Given the description of an element on the screen output the (x, y) to click on. 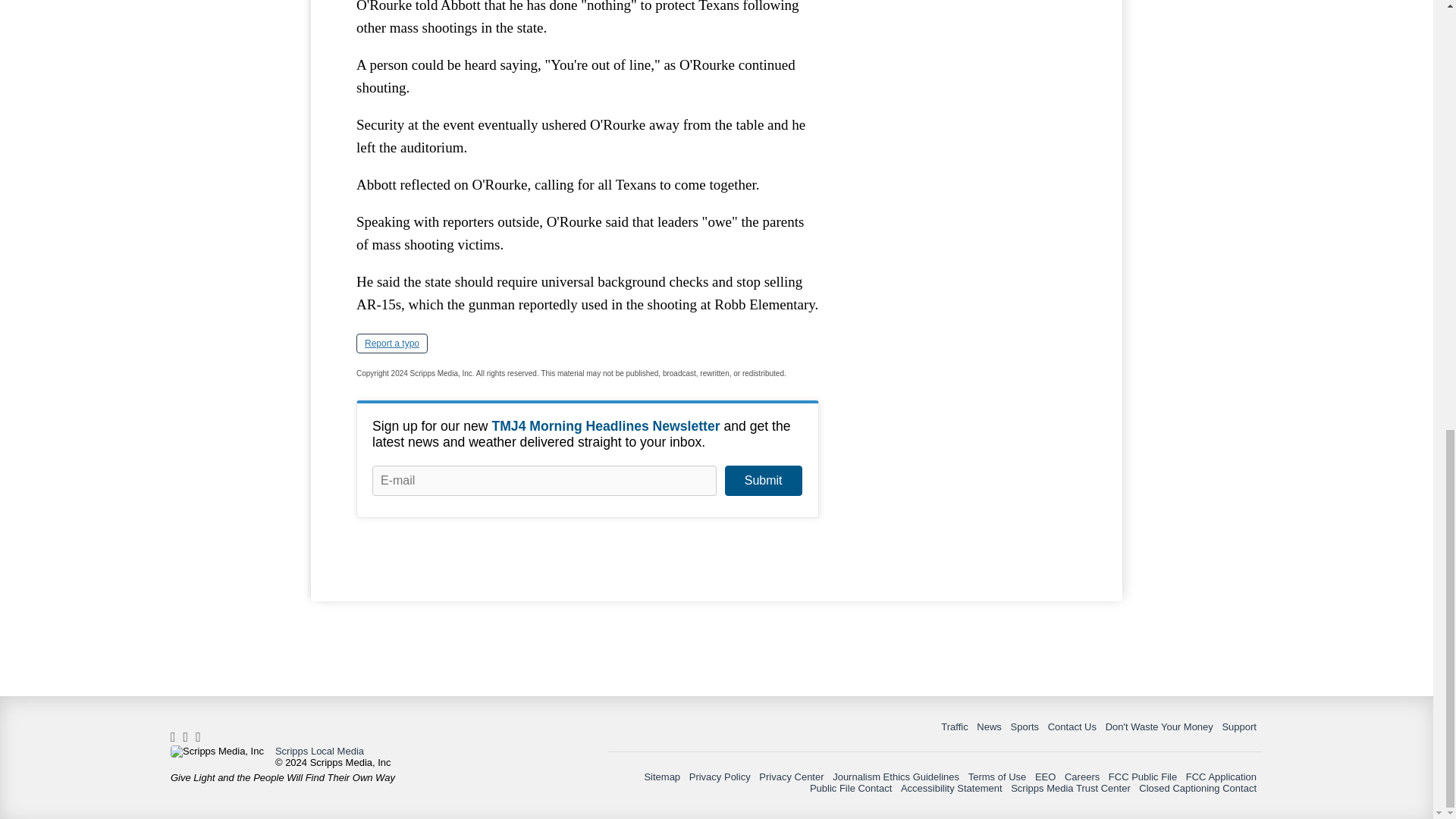
Submit (763, 481)
